Given the description of an element on the screen output the (x, y) to click on. 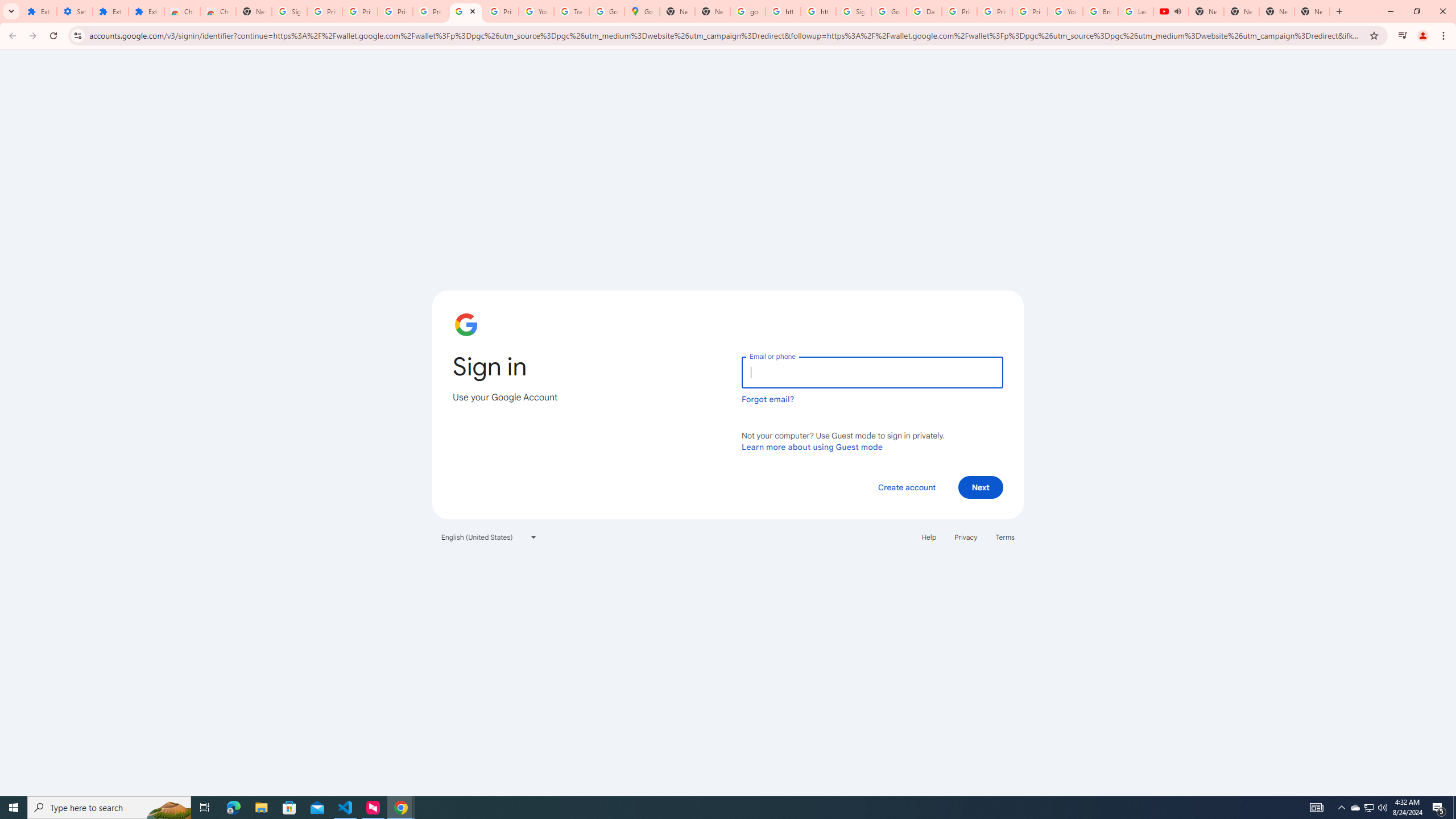
Privacy Help Center - Policies Help (959, 11)
